Given the description of an element on the screen output the (x, y) to click on. 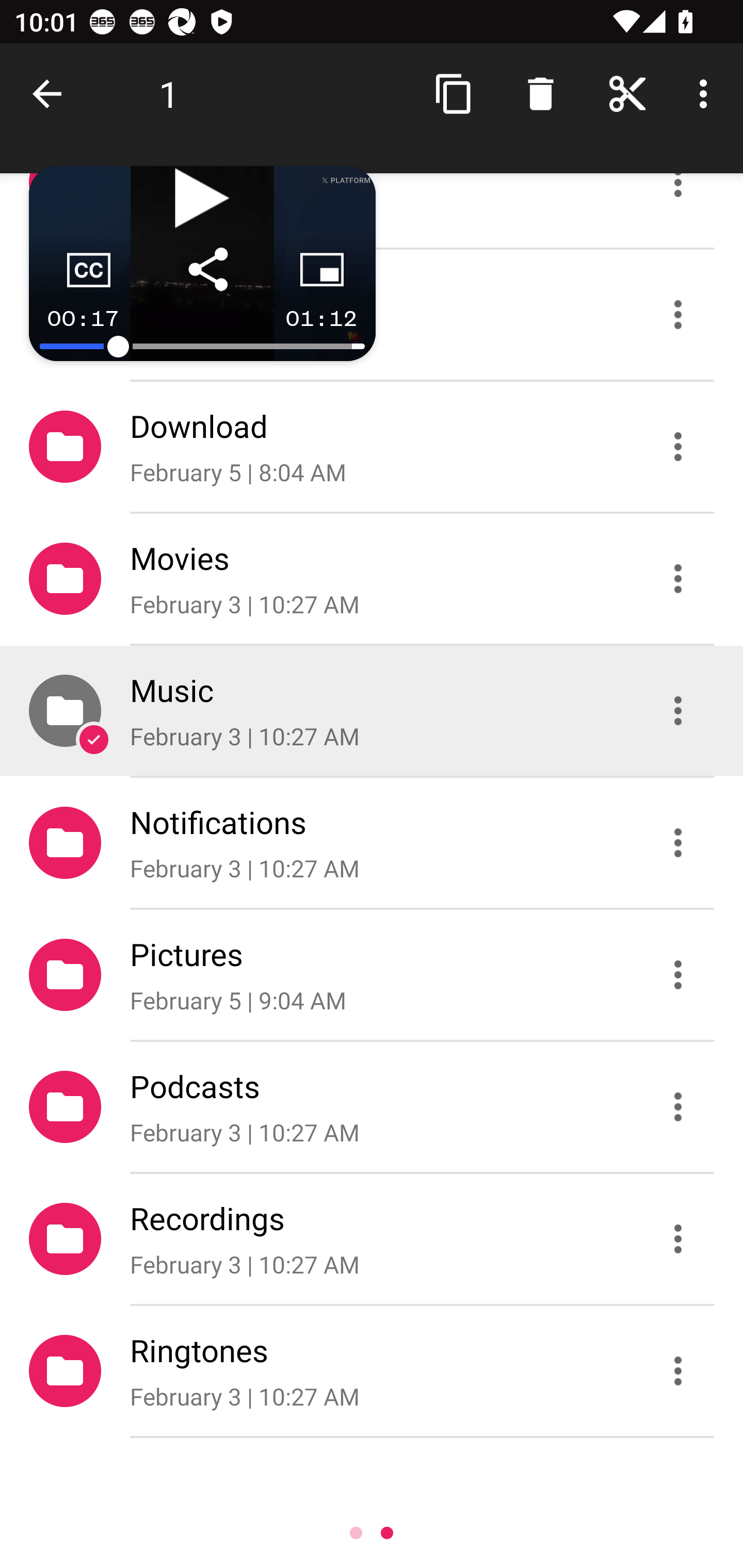
1 (169, 93)
Done (50, 93)
Copy (453, 93)
Delete (540, 93)
Cut (626, 93)
More options (706, 93)
Download February 5 | 8:04 AM (371, 446)
Movies February 3 | 10:27 AM (371, 579)
Music February 3 | 10:27 AM (371, 711)
Notifications February 3 | 10:27 AM (371, 842)
Pictures February 5 | 9:04 AM (371, 974)
Podcasts February 3 | 10:27 AM (371, 1106)
Recordings February 3 | 10:27 AM (371, 1239)
Ringtones February 3 | 10:27 AM (371, 1371)
